Given the description of an element on the screen output the (x, y) to click on. 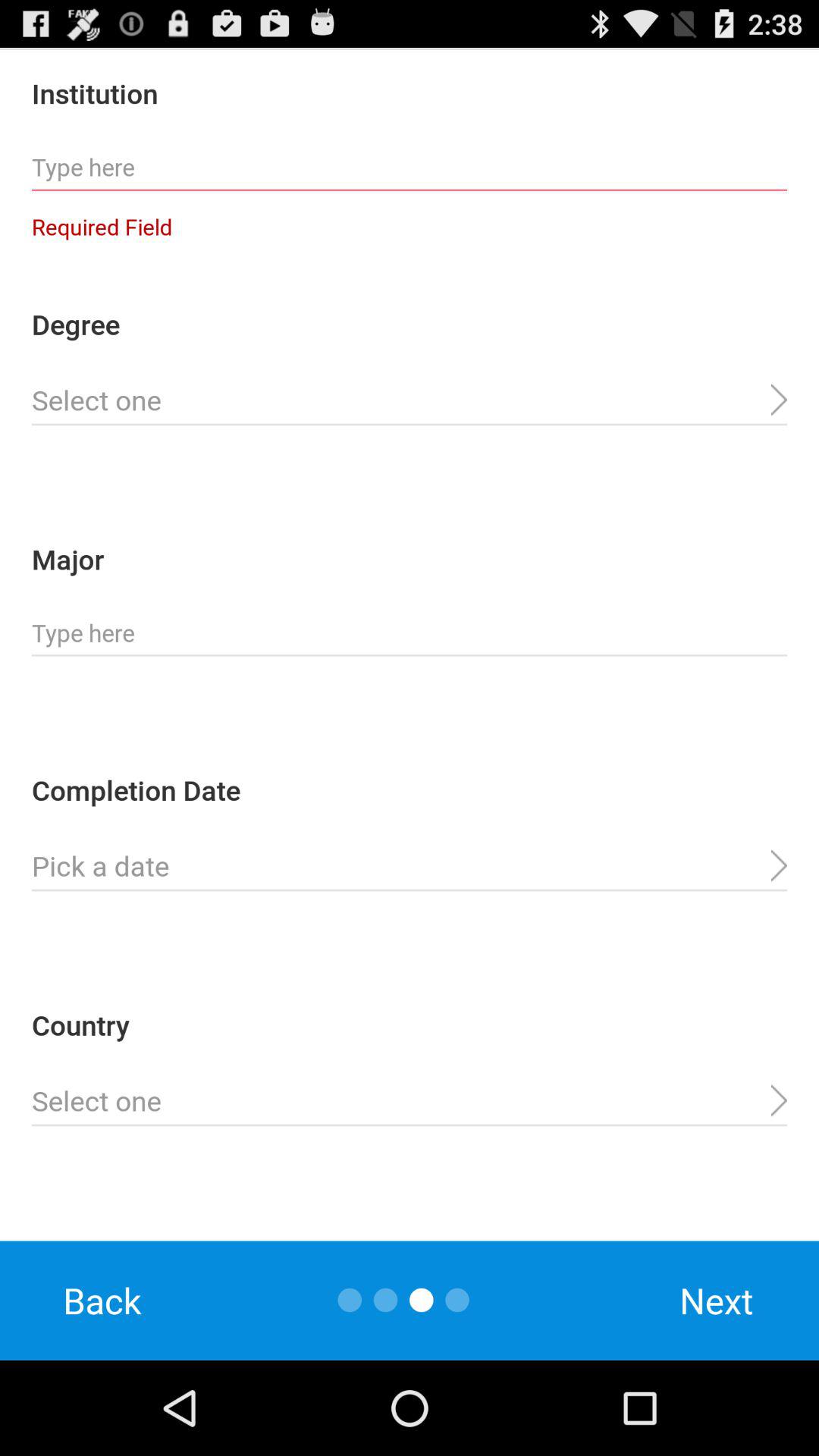
institution name (409, 167)
